Given the description of an element on the screen output the (x, y) to click on. 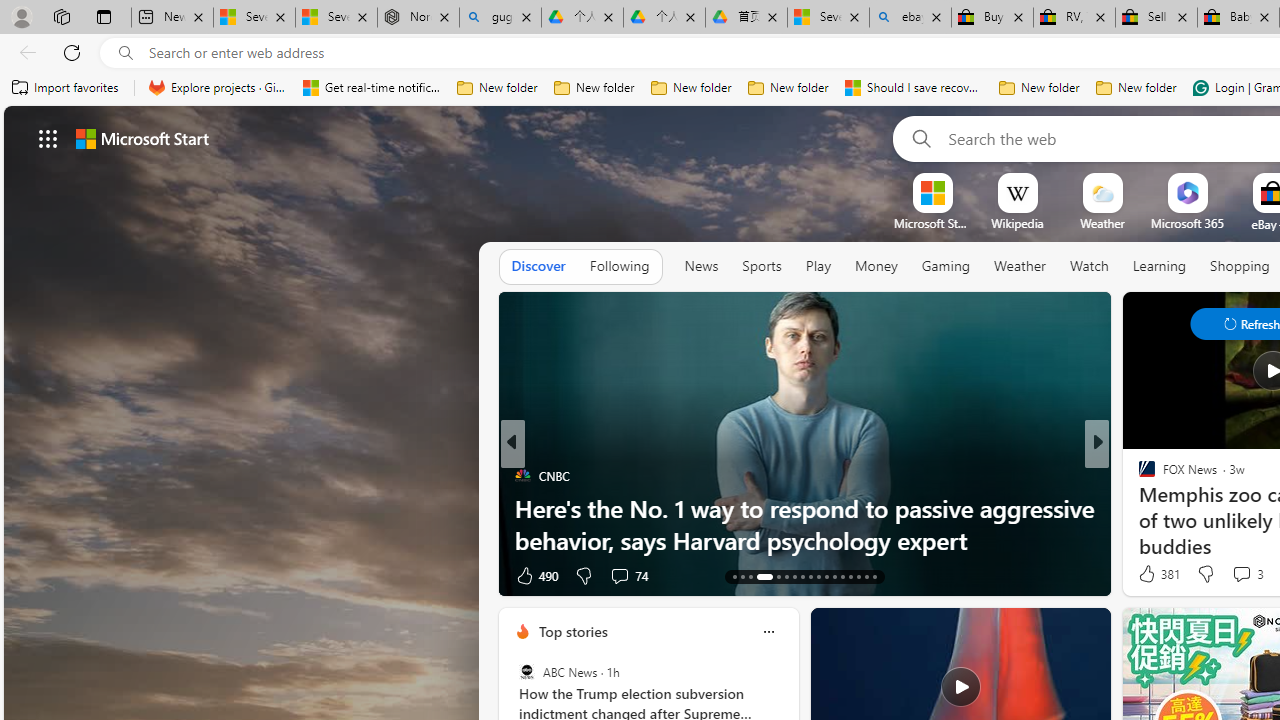
AutomationID: tab-23 (825, 576)
The Telegraph (1138, 475)
View comments 4 Comment (1241, 574)
Action News Jax (1138, 507)
View comments 74 Comment (11, 575)
13 Like (1149, 574)
View comments 1 Comment (1229, 575)
381 Like (1157, 574)
View comments 23 Comment (11, 575)
311 Like (1151, 574)
Wikipedia (1017, 223)
